Given the description of an element on the screen output the (x, y) to click on. 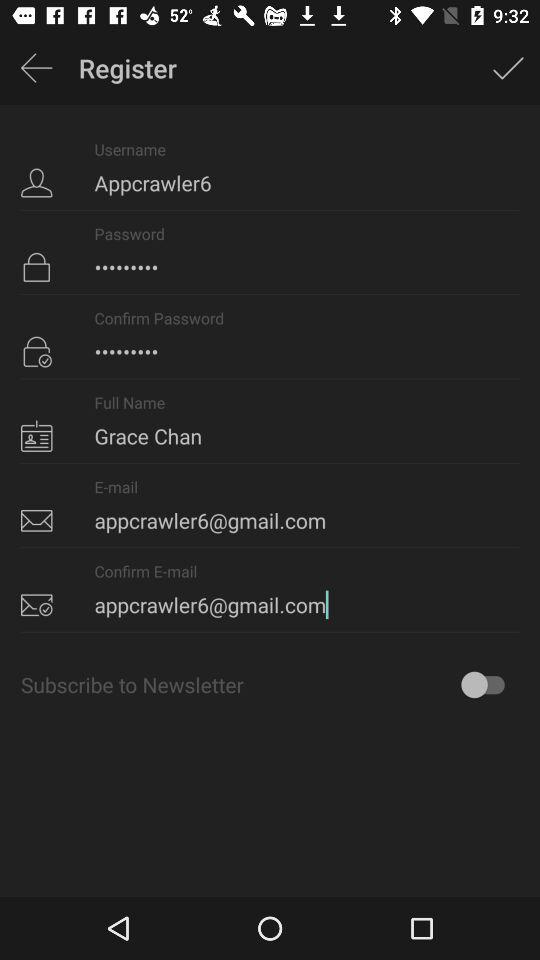
select item below crowd3116 (270, 421)
